Given the description of an element on the screen output the (x, y) to click on. 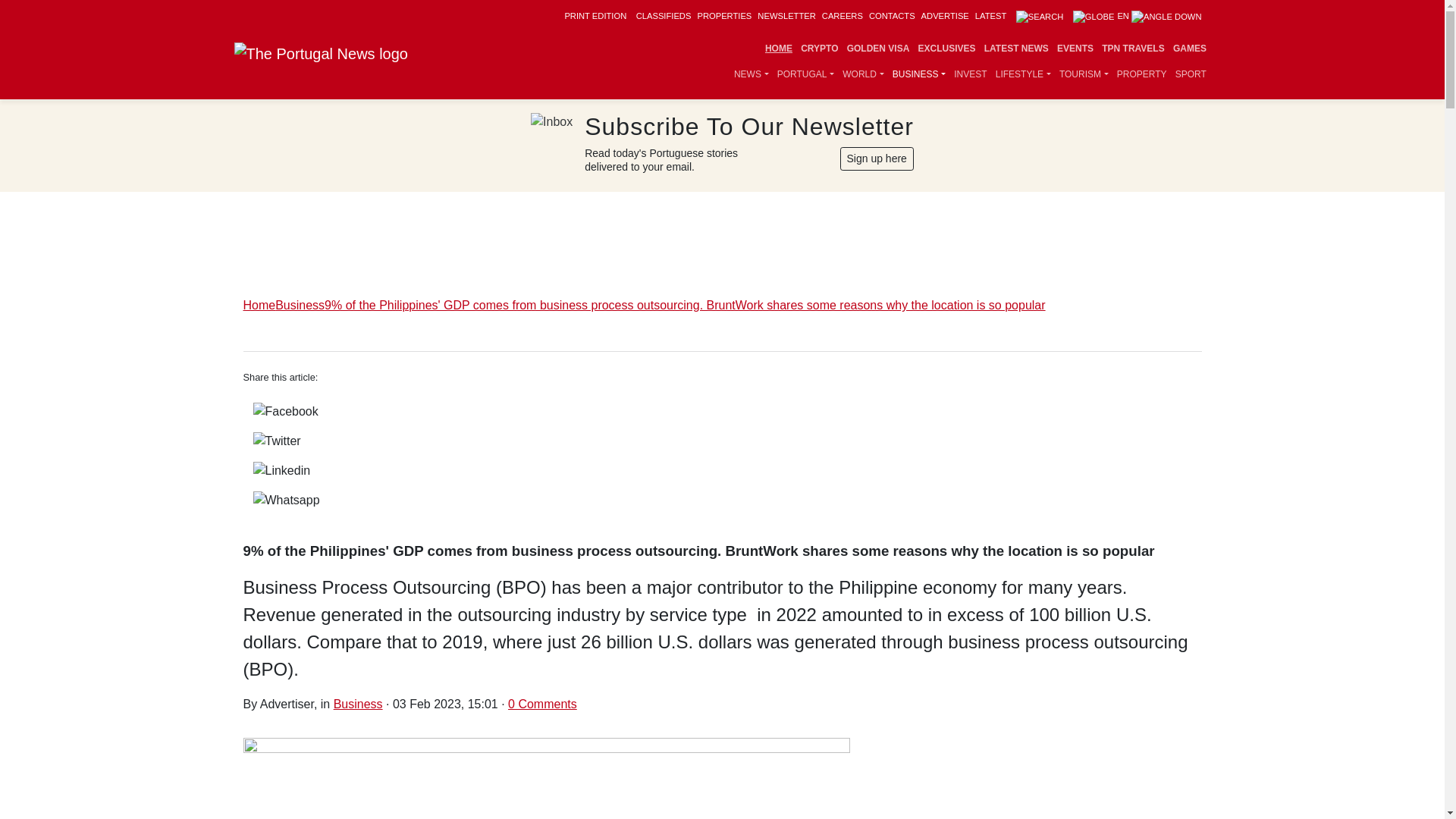
LATEST (990, 15)
PORTUGAL (805, 73)
NEWS (751, 73)
TPN TRAVELS (1133, 48)
HOME (778, 48)
CLASSIFIEDS (663, 15)
PRINT EDITION (595, 15)
ADVERTISE (945, 15)
EN (1137, 15)
GAMES (1189, 48)
CRYPTO (819, 48)
GOLDEN VISA (878, 48)
CAREERS (842, 15)
PROPERTIES (724, 15)
EXCLUSIVES (946, 48)
